Given the description of an element on the screen output the (x, y) to click on. 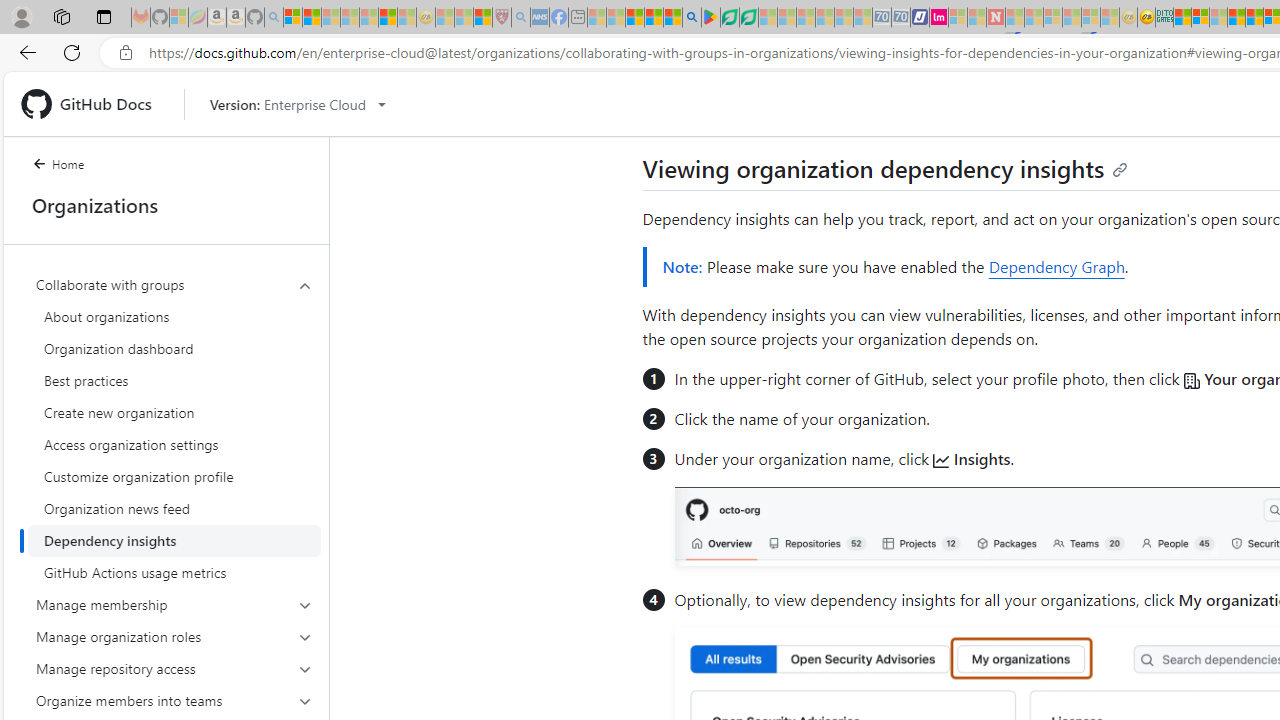
Collaborate with groups (174, 428)
Local - MSN (482, 17)
GitHub Actions usage metrics (174, 572)
Bluey: Let's Play! - Apps on Google Play (710, 17)
Dependency insights (174, 540)
